Given the description of an element on the screen output the (x, y) to click on. 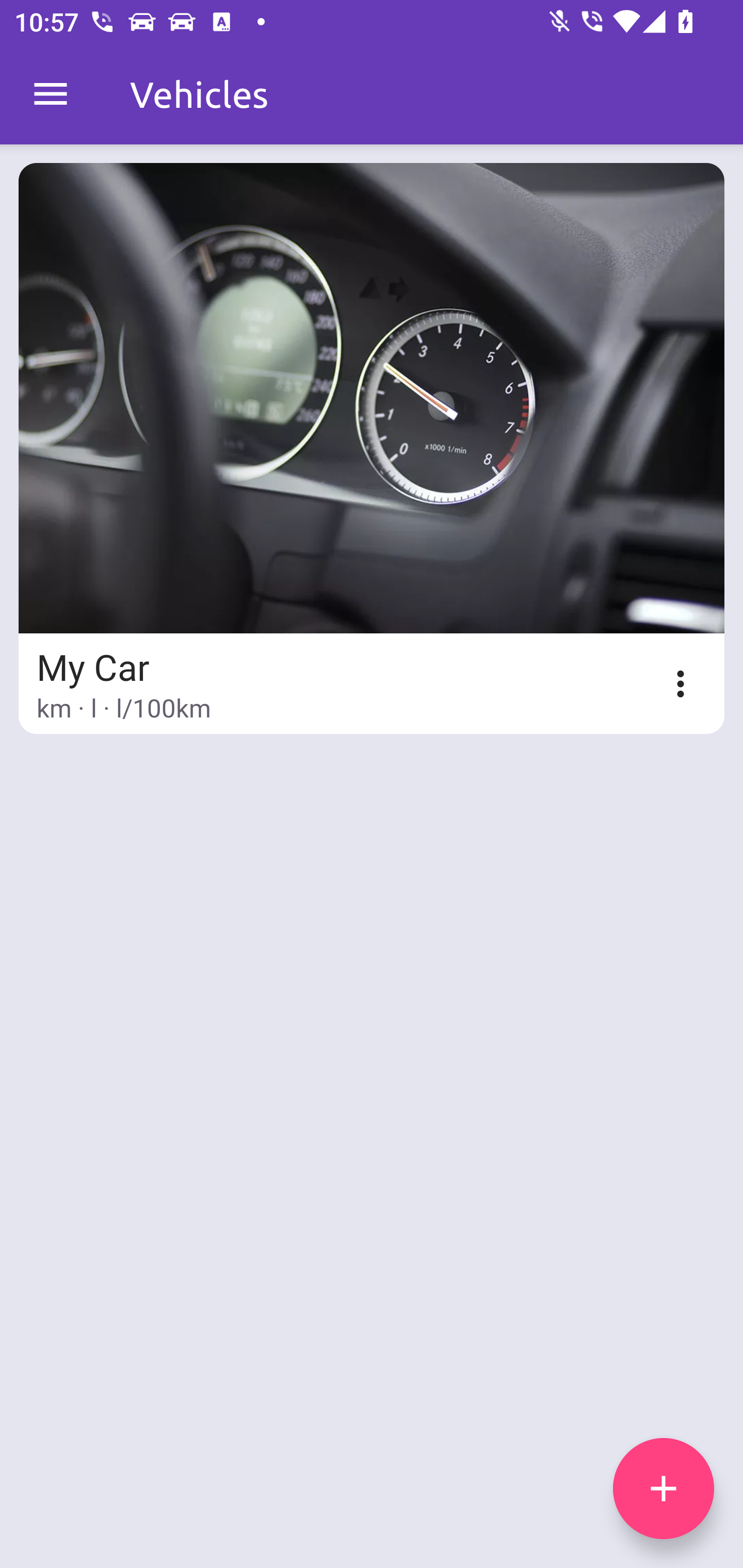
MenuDrawer (50, 93)
My Car km · l · l/100km (371, 448)
add icon (663, 1488)
